Given the description of an element on the screen output the (x, y) to click on. 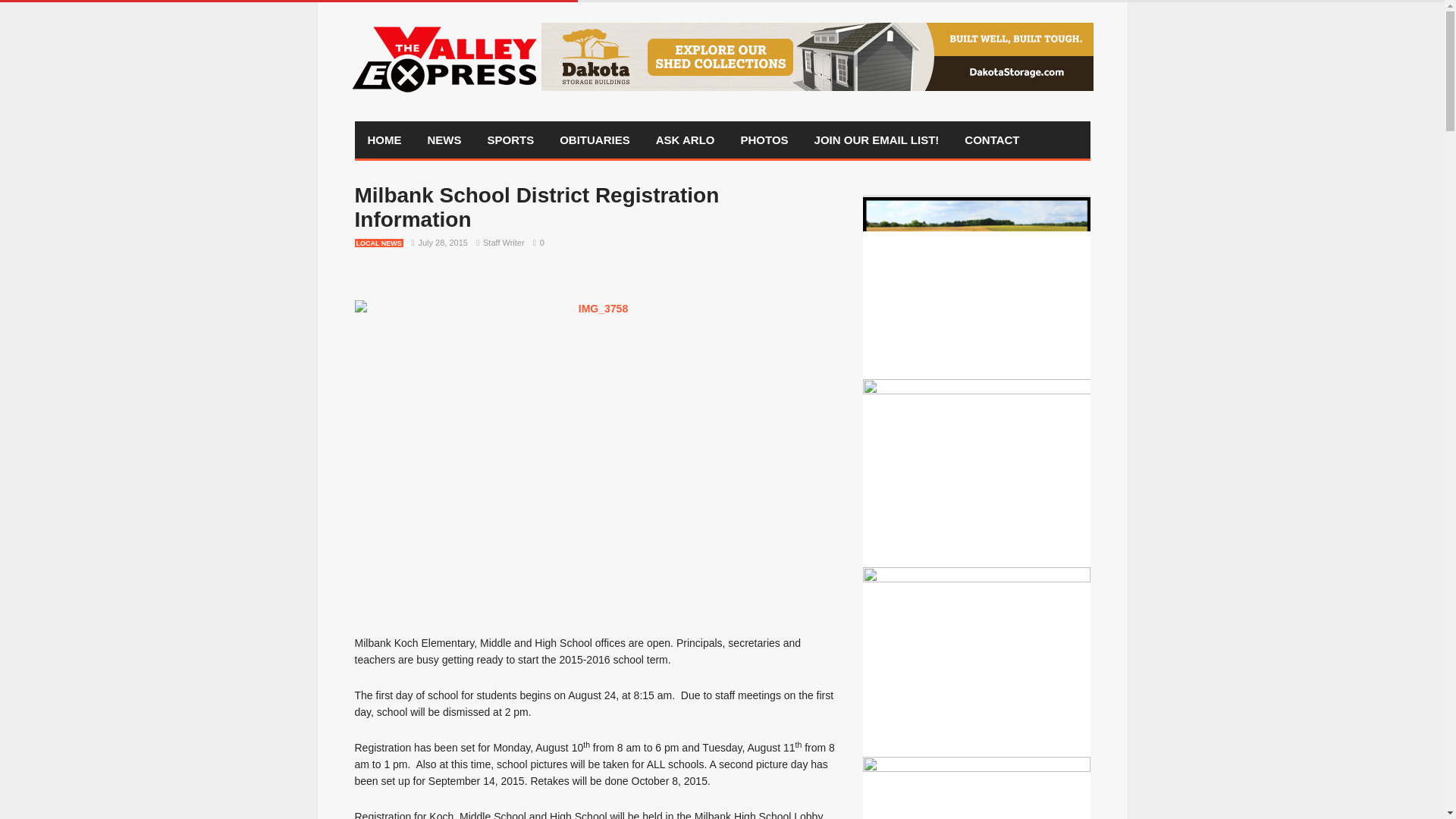
HOME (384, 139)
OBITUARIES (595, 139)
Post Comment (77, 9)
Staff Writer (503, 242)
Milbank School District Registration Information (537, 206)
PHOTOS (763, 139)
CONTACT (992, 139)
JOIN OUR EMAIL LIST! (877, 139)
LOCAL NEWS (379, 243)
Ask Arlo (685, 139)
Contact (992, 139)
Join Our Email List! (877, 139)
News (443, 139)
Obituaries (595, 139)
Home (384, 139)
